Given the description of an element on the screen output the (x, y) to click on. 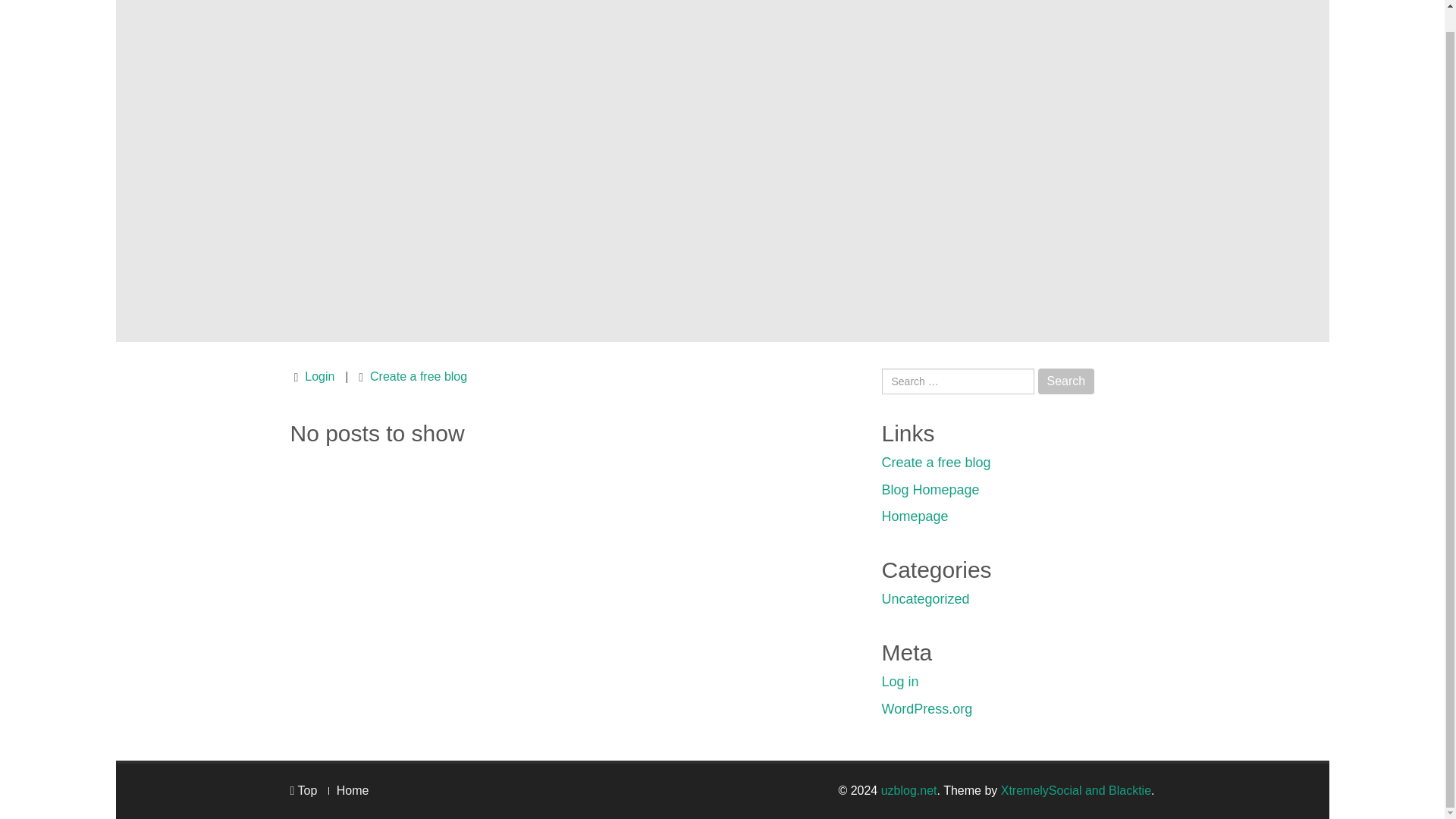
Top (303, 789)
Login (319, 376)
Home (352, 789)
Home (352, 789)
Log in (899, 681)
Blog Homepage (929, 489)
Uncategorized (924, 598)
Create a free blog (935, 462)
Create a free blog (418, 376)
WordPress.org (926, 708)
Back to top of page (303, 789)
Homepage (913, 516)
Search (1066, 380)
Search (1066, 380)
